Given the description of an element on the screen output the (x, y) to click on. 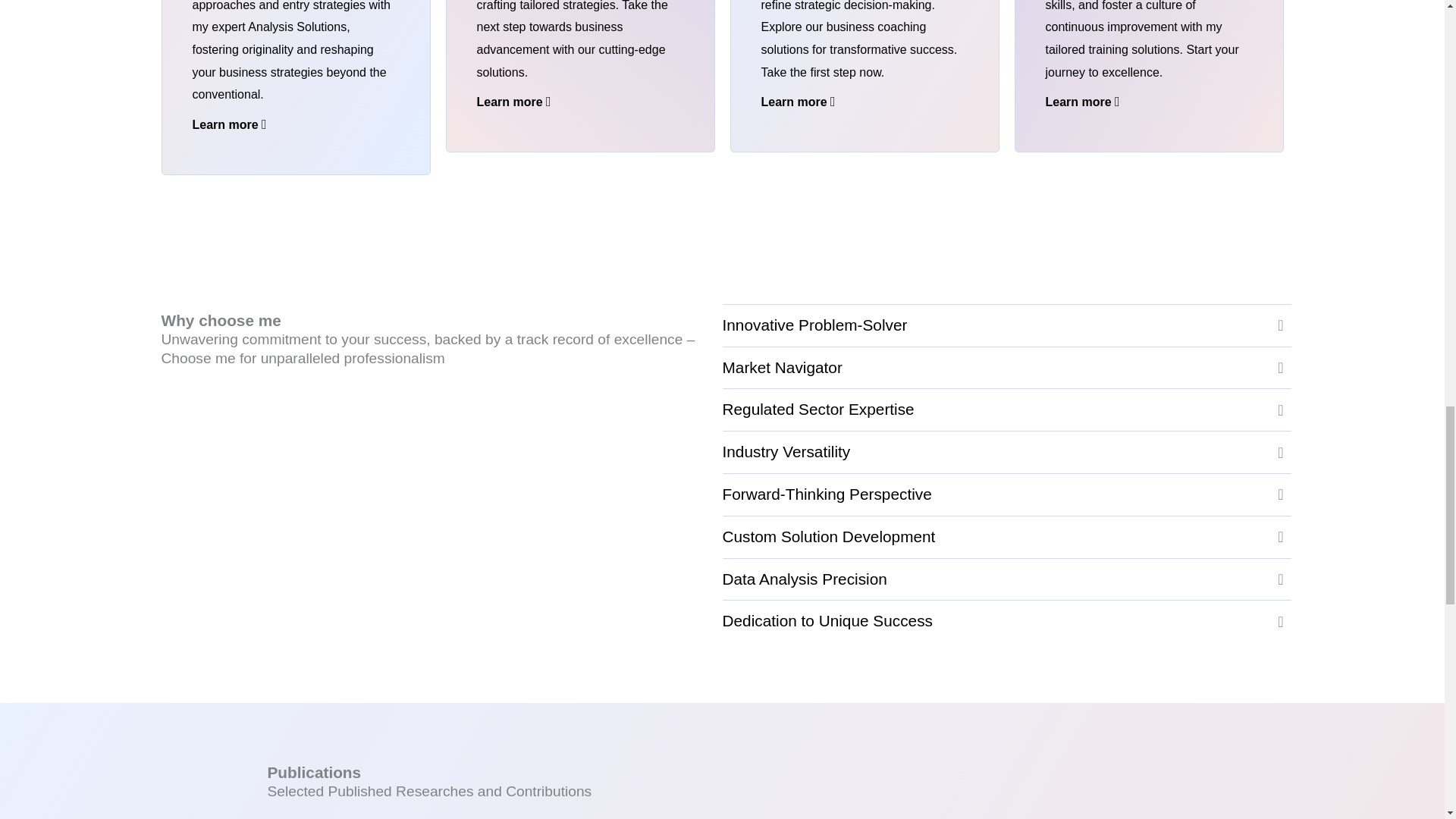
Learn more (798, 101)
Learn more (513, 101)
Learn more (229, 124)
Learn more (1082, 101)
